Given the description of an element on the screen output the (x, y) to click on. 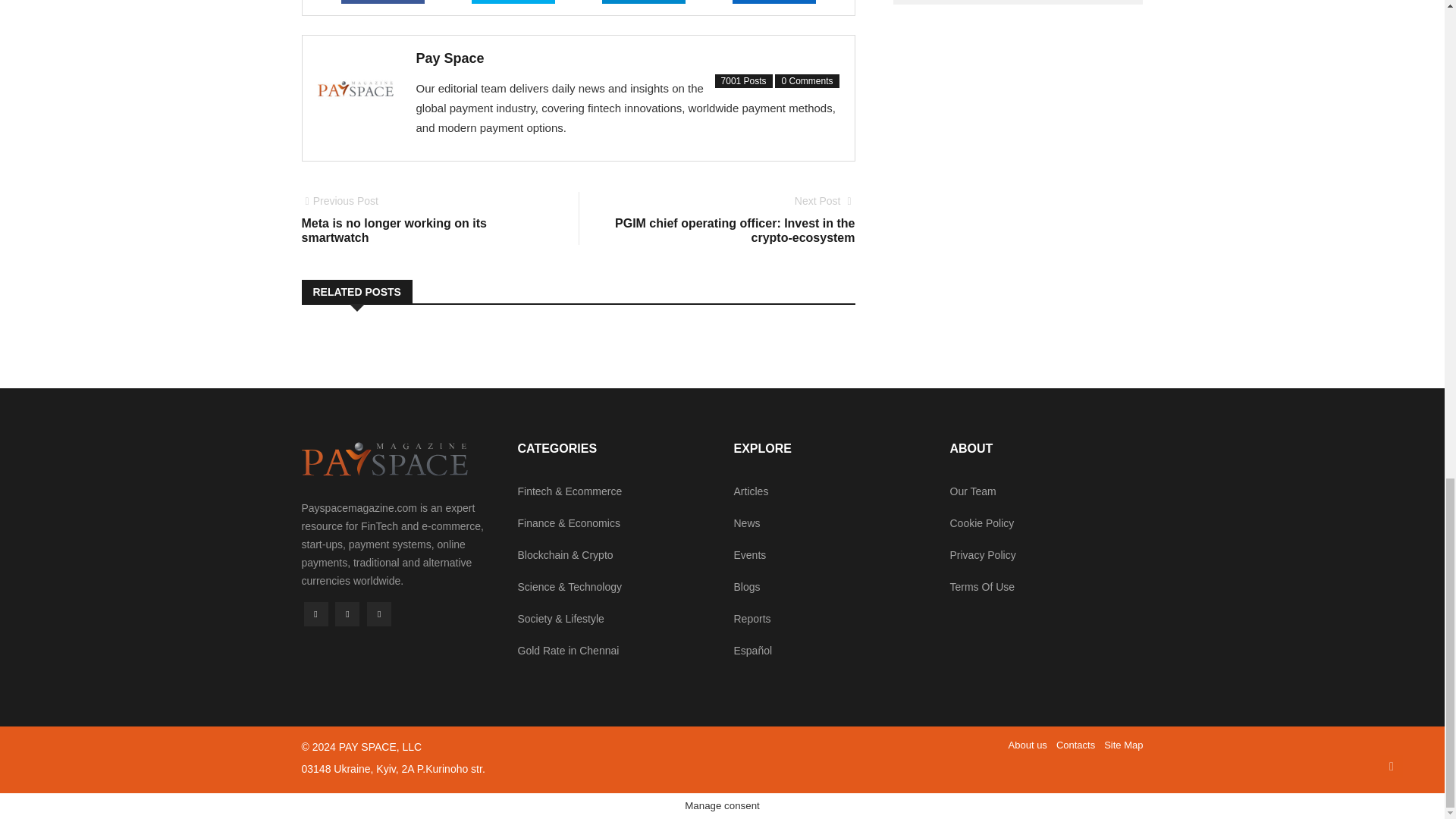
Facebook (314, 613)
RSS (378, 613)
Twitter (346, 613)
